Given the description of an element on the screen output the (x, y) to click on. 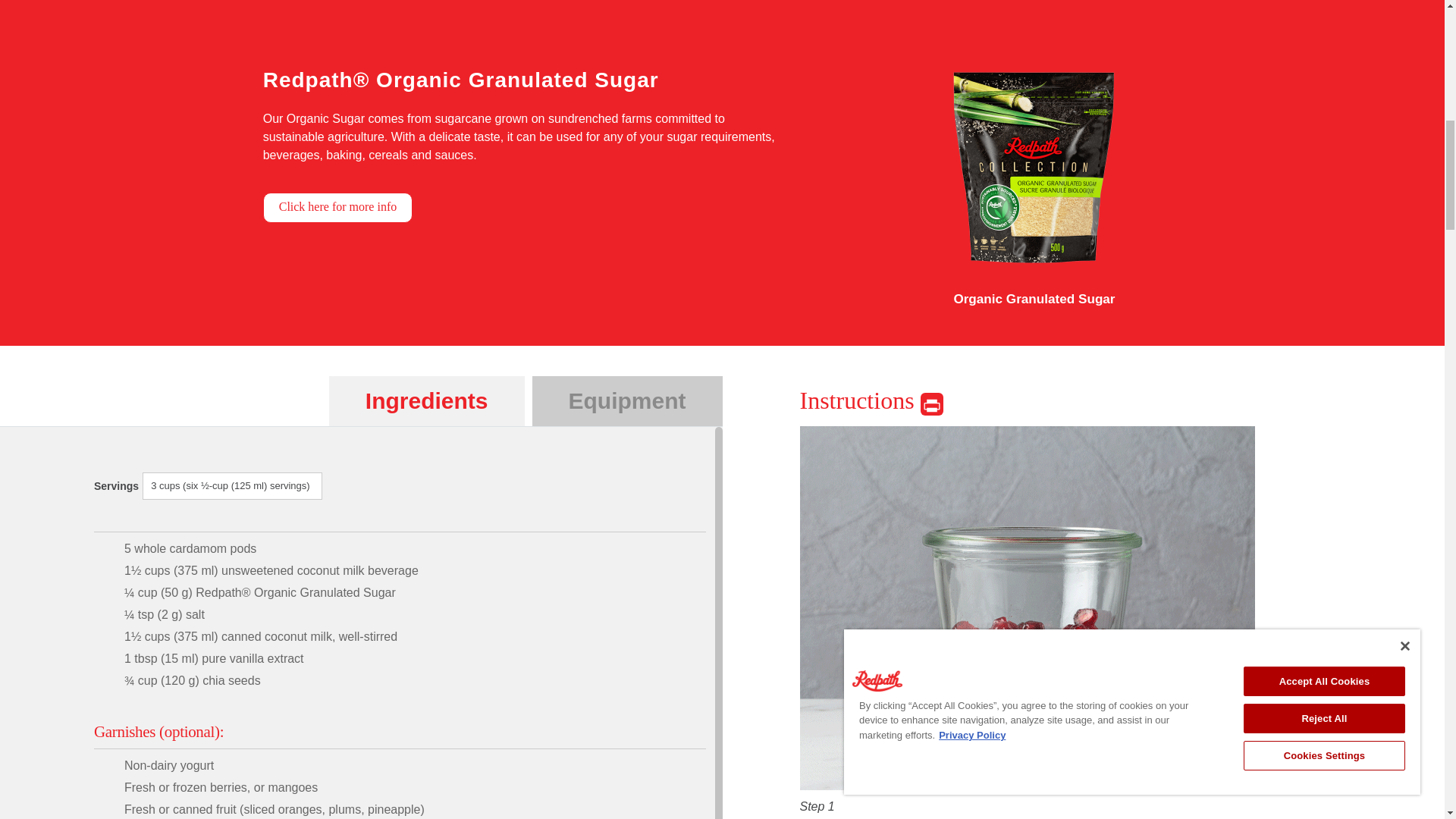
Organic Granulated Sugar (1034, 231)
Click here for more info (338, 207)
